Given the description of an element on the screen output the (x, y) to click on. 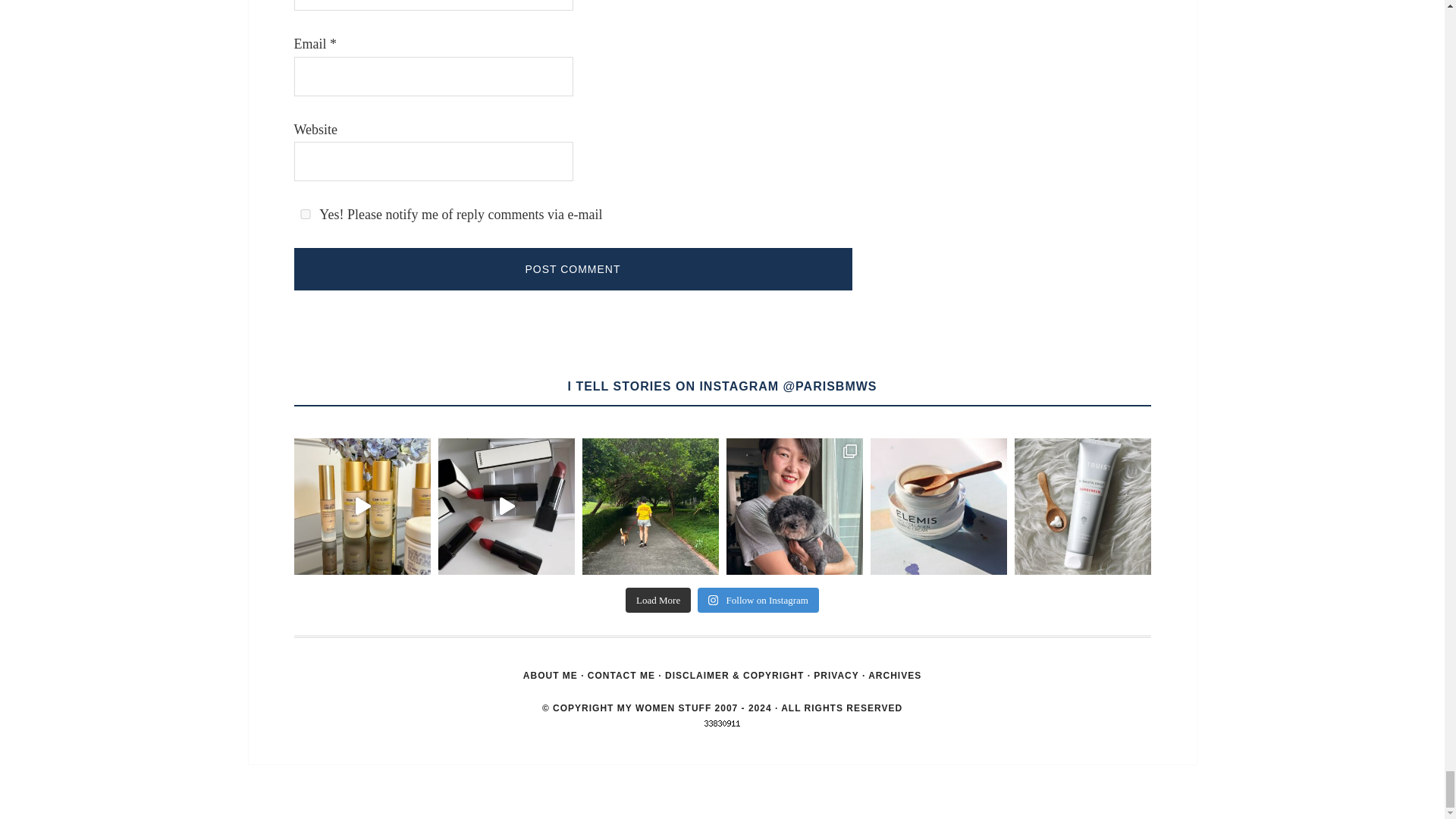
Post Comment (572, 269)
replies (305, 214)
